Given the description of an element on the screen output the (x, y) to click on. 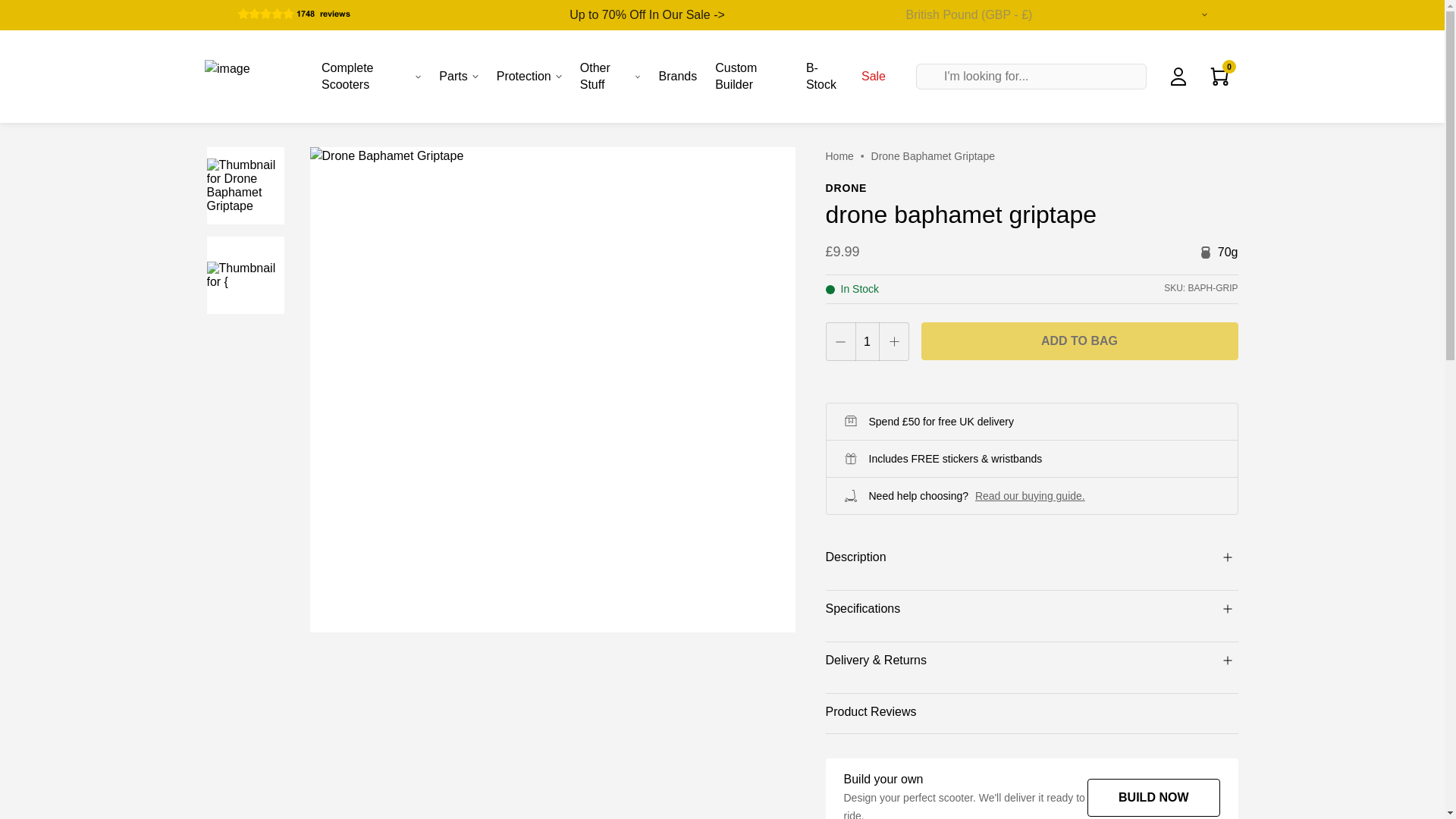
home (839, 155)
Read our buying guide. (1029, 495)
1 (866, 341)
Complete Scooters (370, 76)
Skip to content (35, 39)
Our customer Feefo rating (311, 12)
Parts (458, 76)
